Given the description of an element on the screen output the (x, y) to click on. 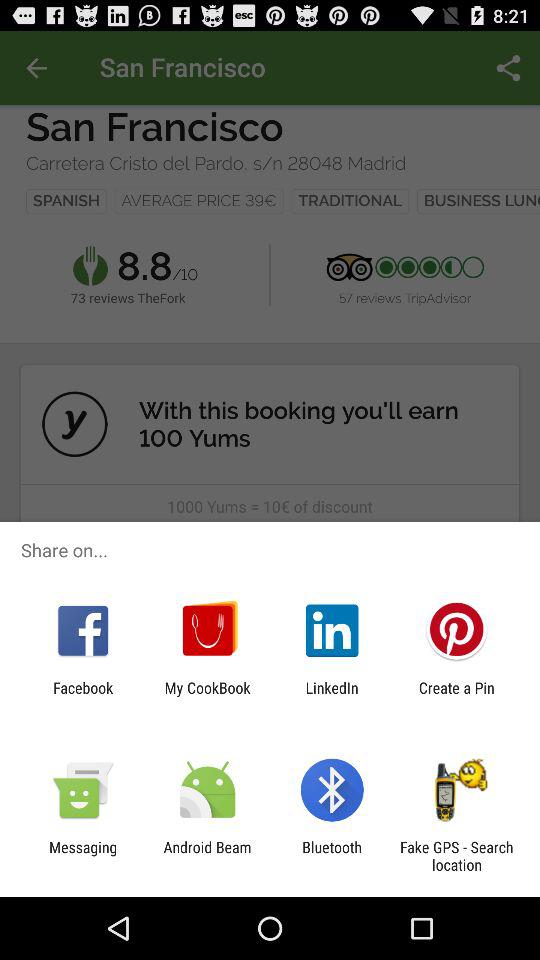
turn off android beam icon (207, 856)
